Given the description of an element on the screen output the (x, y) to click on. 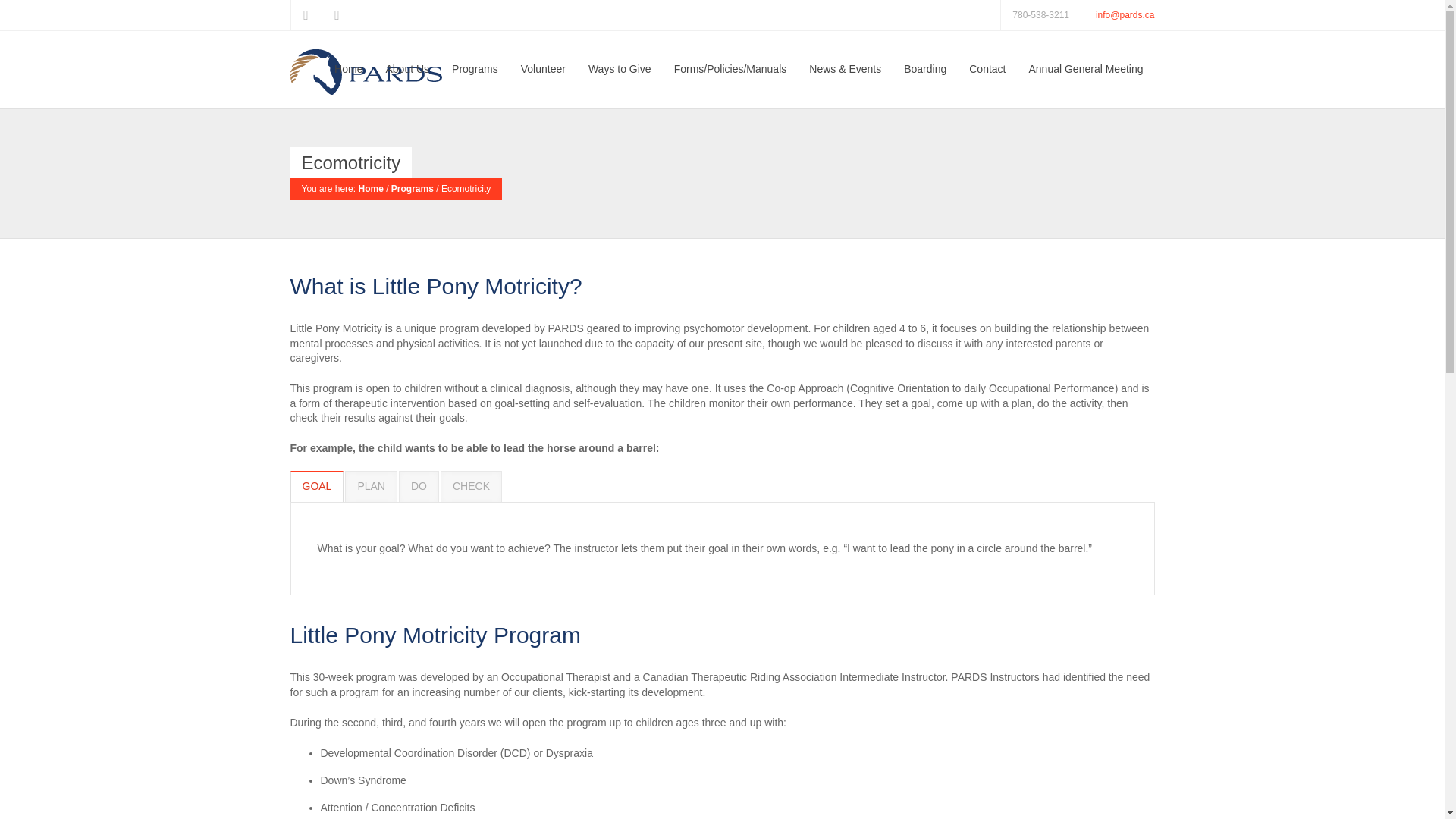
Programs (412, 188)
Ways to Give (619, 81)
